Given the description of an element on the screen output the (x, y) to click on. 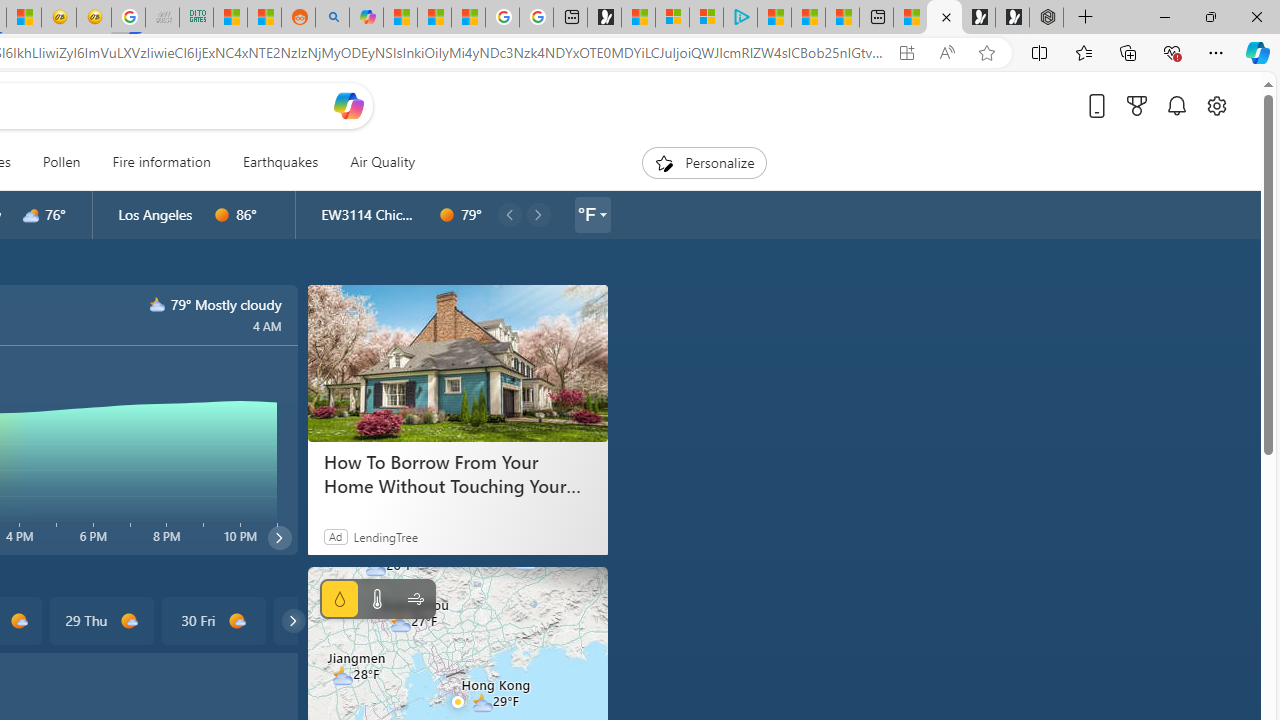
Temperature (376, 599)
29 Thu d1000 (100, 620)
Pollen (61, 162)
